Given the description of an element on the screen output the (x, y) to click on. 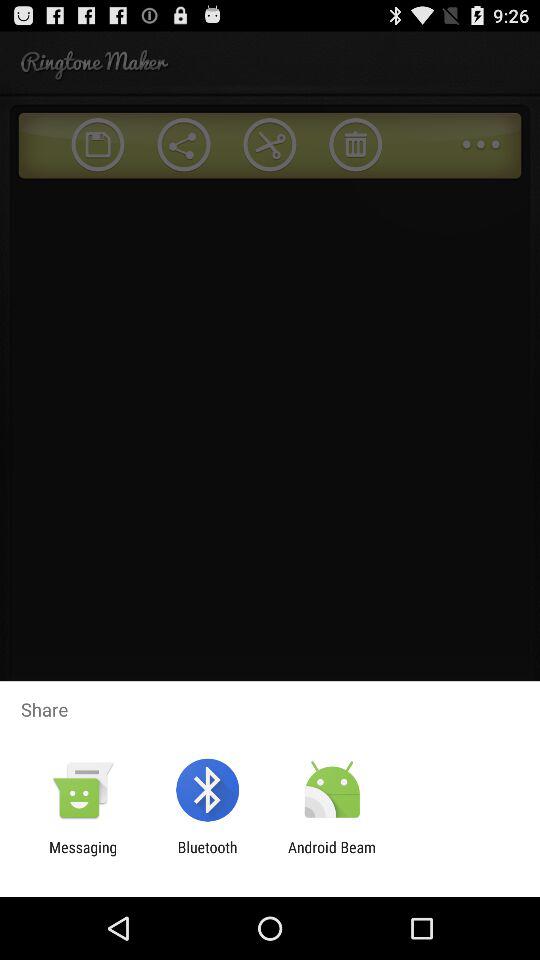
flip to the messaging (83, 856)
